Given the description of an element on the screen output the (x, y) to click on. 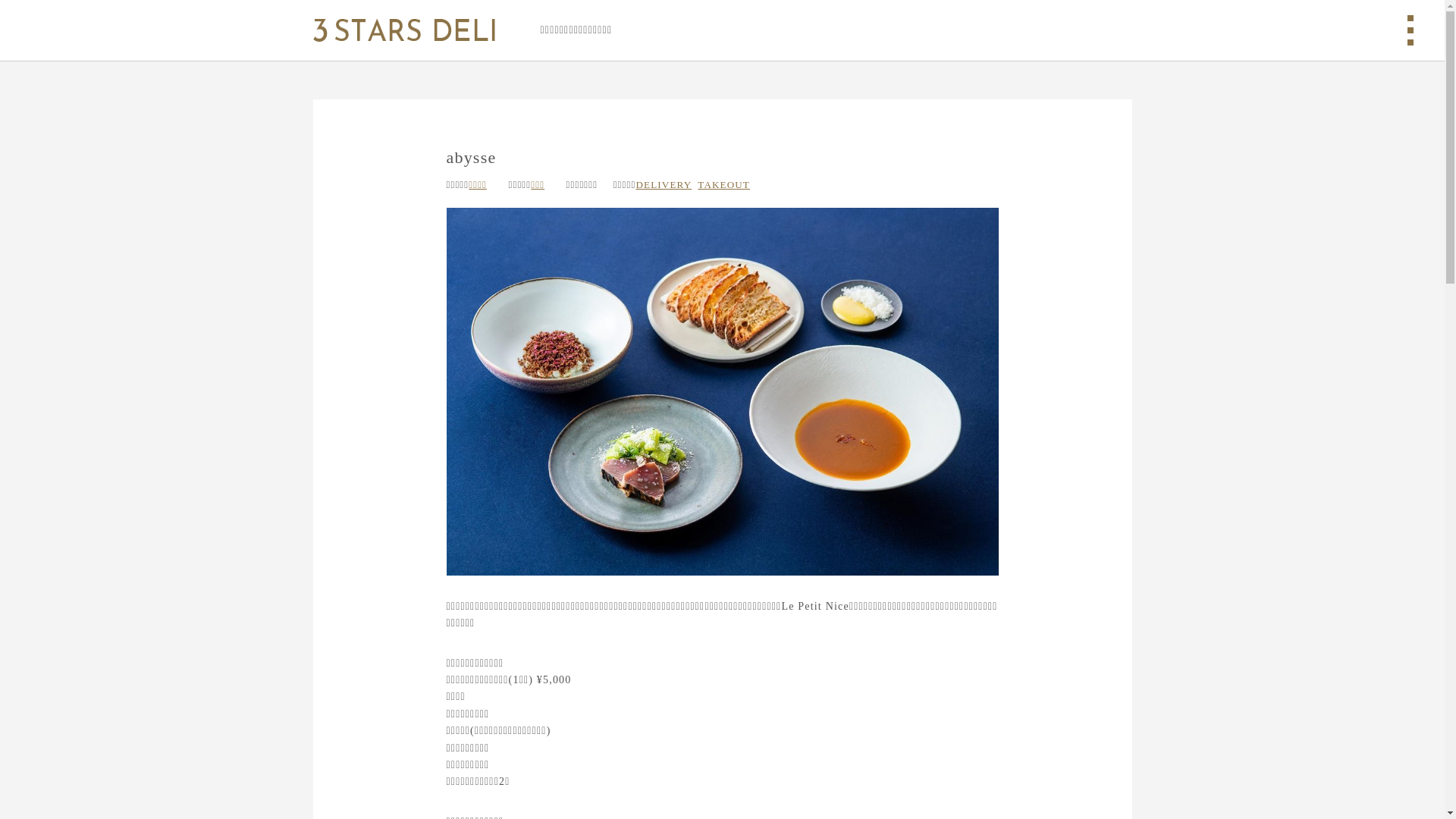
DELIVERY Element type: text (663, 184)
TAKEOUT Element type: text (723, 184)
